Given the description of an element on the screen output the (x, y) to click on. 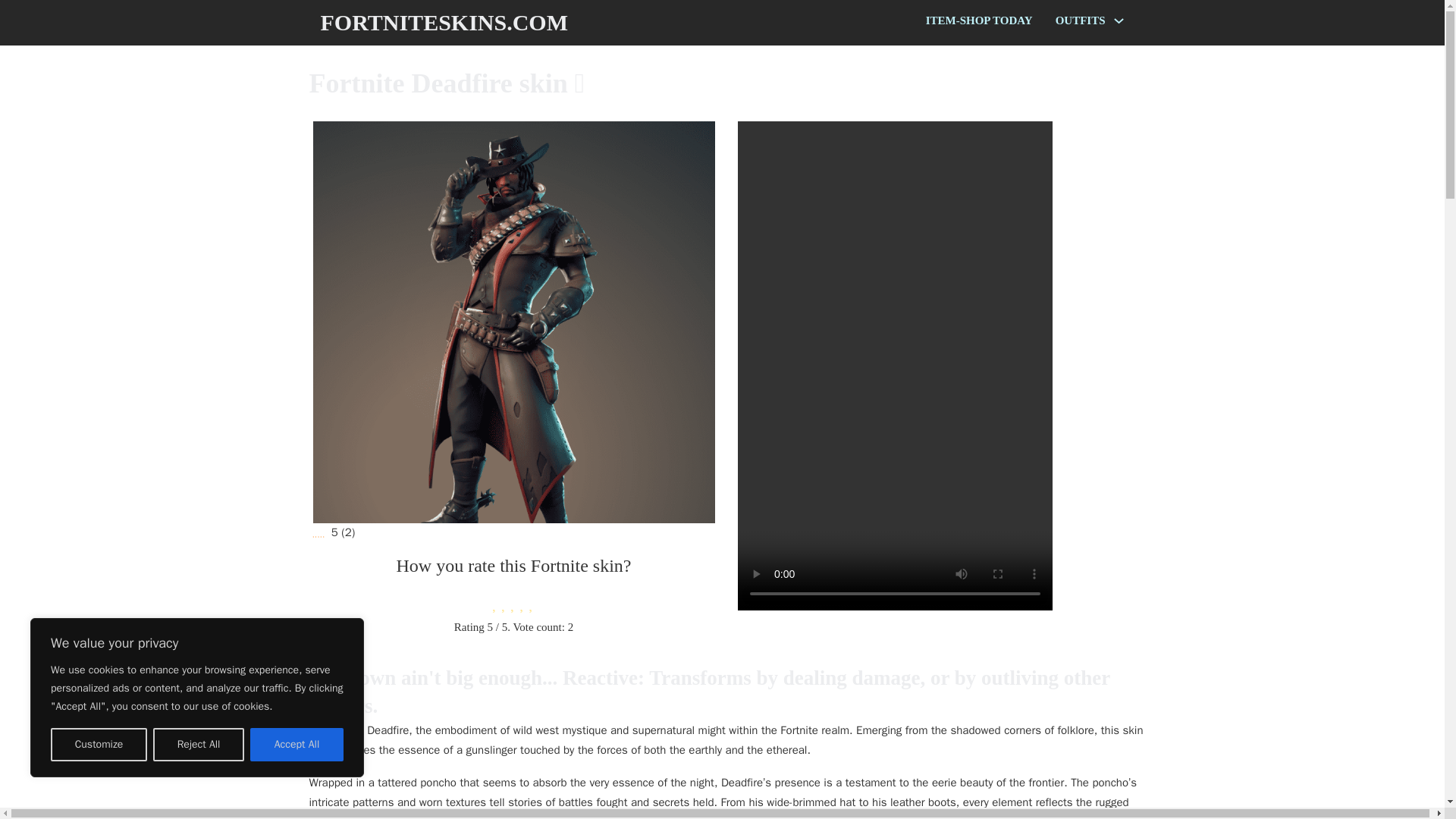
Accept All (296, 744)
ITEM-SHOP TODAY (979, 21)
FORTNITESKINS.COM (443, 22)
OUTFITS (1080, 21)
Reject All (198, 744)
Customize (98, 744)
